Given the description of an element on the screen output the (x, y) to click on. 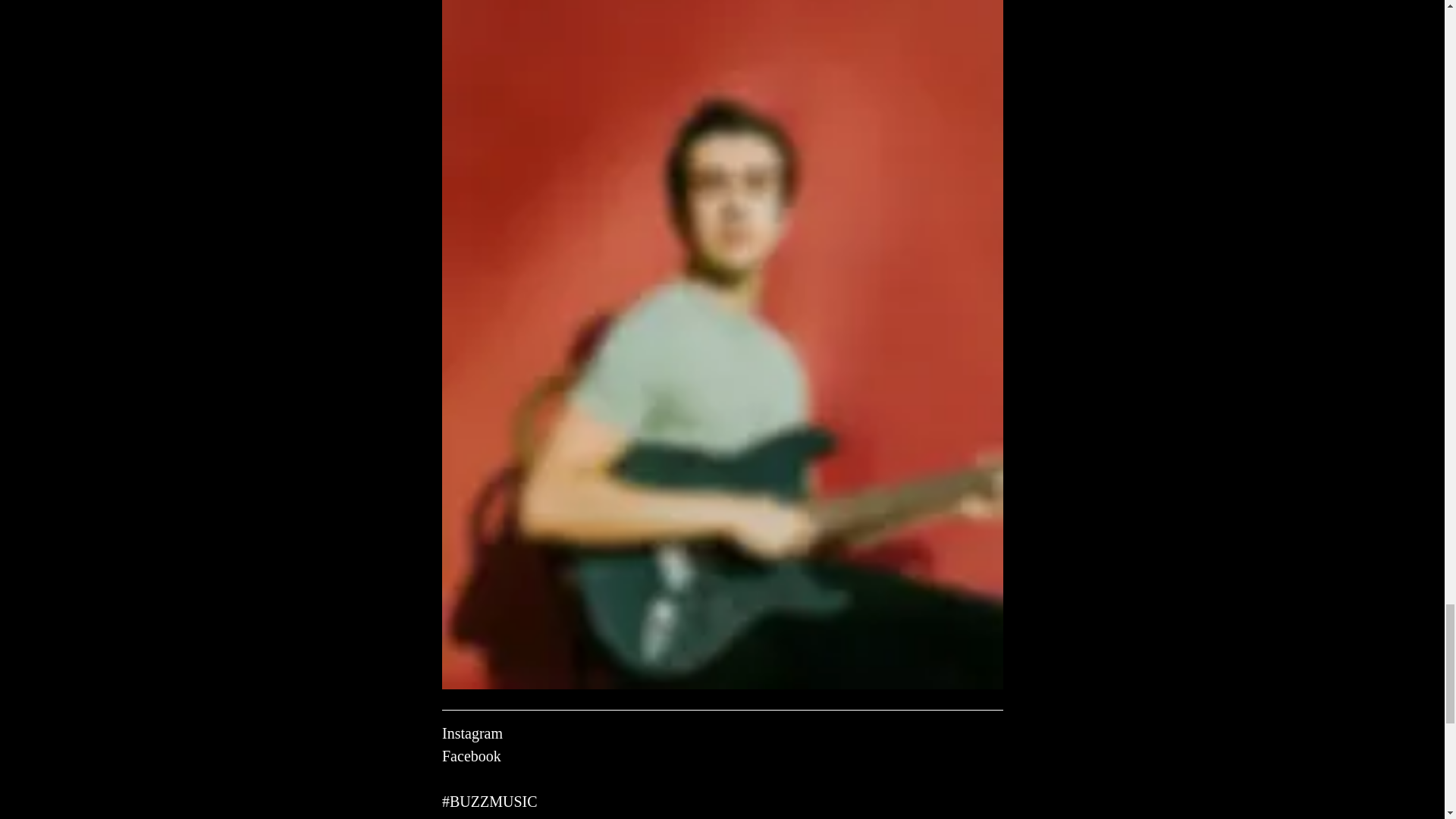
Instagram (471, 733)
Facebook (470, 755)
